Given the description of an element on the screen output the (x, y) to click on. 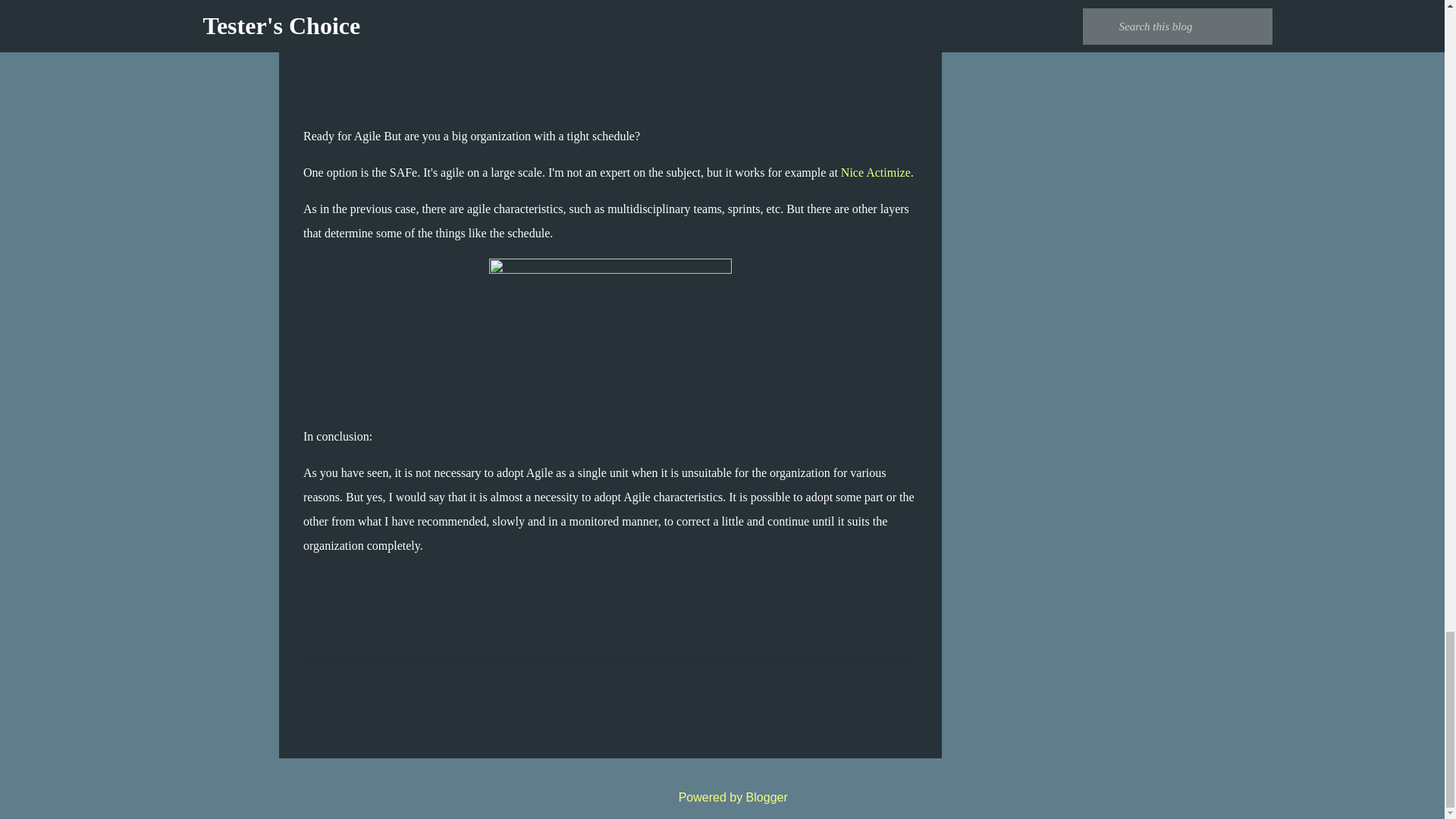
Nice Actimize (876, 172)
Powered by Blogger (721, 797)
